Given the description of an element on the screen output the (x, y) to click on. 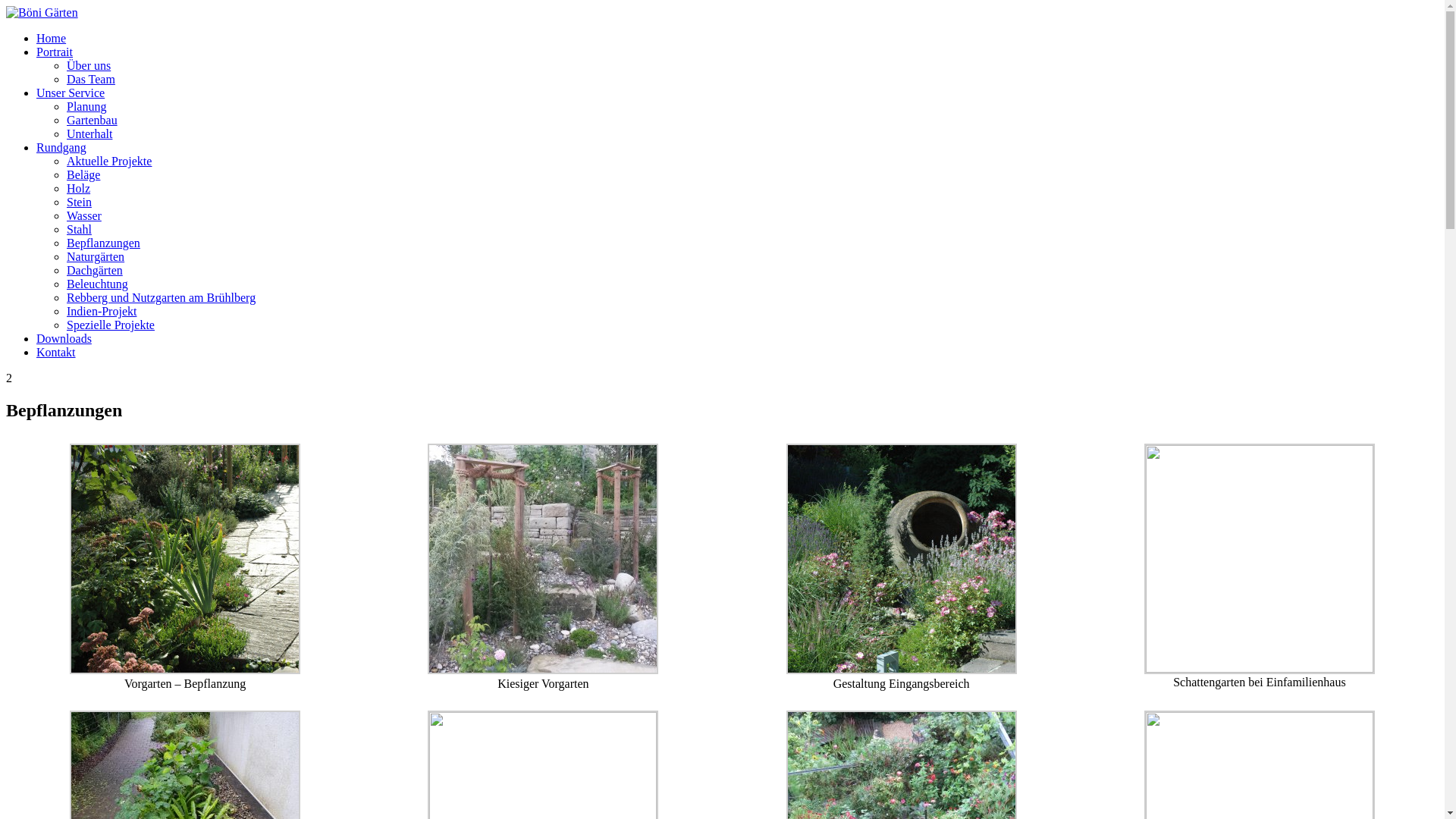
Gestaltung Eingangsbereich Element type: hover (901, 669)
Schattengarten bei Einfamilienhaus Element type: hover (1259, 668)
Stahl Element type: text (78, 228)
Home Element type: text (50, 37)
Kiesiger Vorgarten Element type: hover (542, 669)
Portrait Element type: text (54, 51)
Rundgang Element type: text (61, 147)
Holz Element type: text (78, 188)
Downloads Element type: text (63, 338)
Unterhalt Element type: text (89, 133)
Bepflanzungen Element type: text (103, 242)
Stein Element type: text (78, 201)
Indien-Projekt Element type: text (101, 310)
Beleuchtung Element type: text (97, 283)
Kontakt Element type: text (55, 351)
Das Team Element type: text (90, 78)
Unser Service Element type: text (70, 92)
Gartenbau Element type: text (91, 119)
Vorgarten - Bepflanzung Element type: hover (184, 669)
Wasser Element type: text (83, 215)
Planung Element type: text (86, 106)
Aktuelle Projekte Element type: text (108, 160)
Spezielle Projekte Element type: text (110, 324)
